Given the description of an element on the screen output the (x, y) to click on. 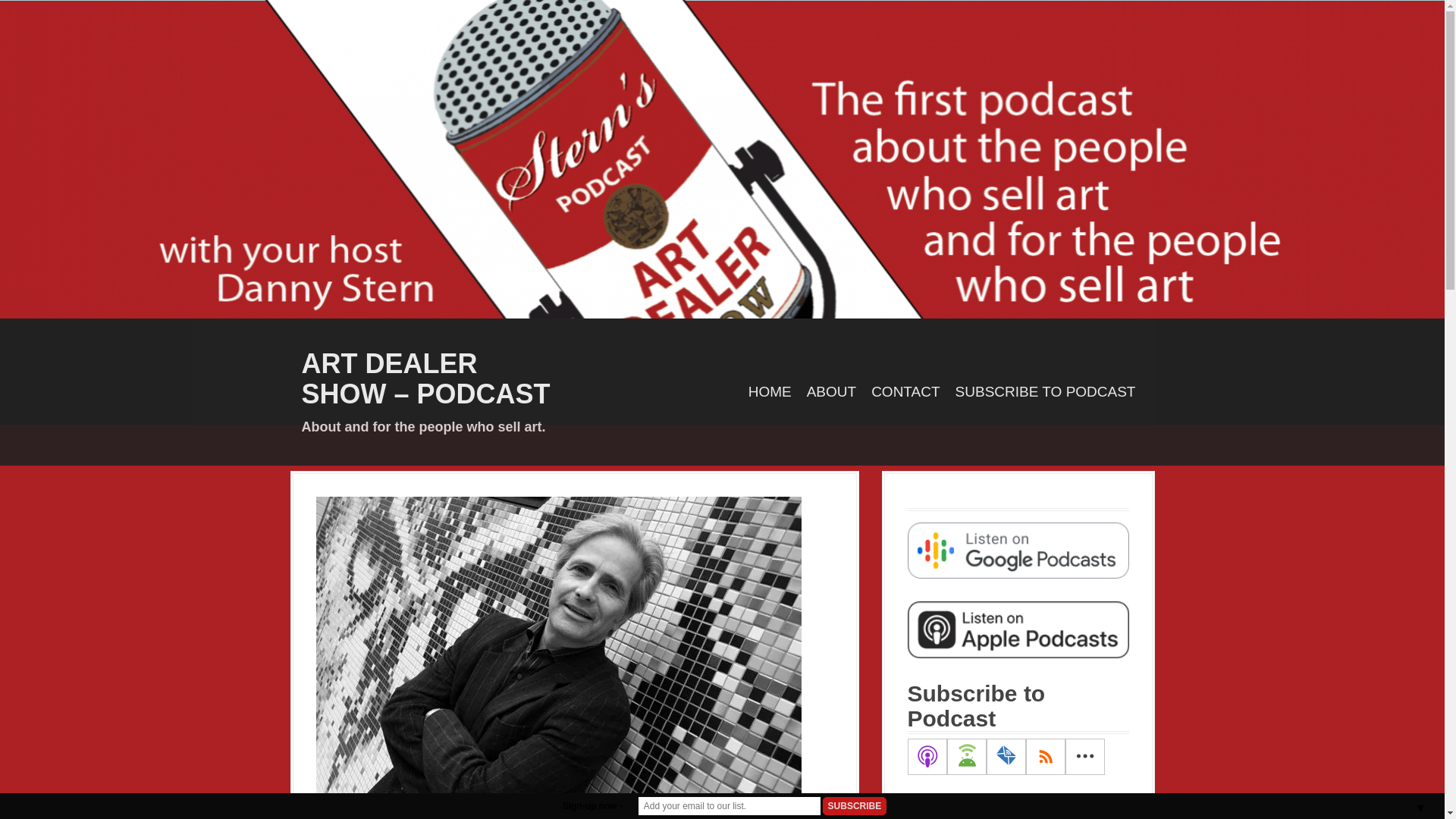
Subscribe via RSS (1044, 756)
More Subscribe Options (1083, 756)
SUBSCRIBE TO PODCAST (1045, 392)
Subscribe on Android (965, 756)
Subscribe (854, 805)
HOME (770, 392)
ABOUT (831, 392)
Subscribe by Email (1005, 756)
CONTACT (904, 392)
Subscribe on Apple Podcasts (926, 756)
